Given the description of an element on the screen output the (x, y) to click on. 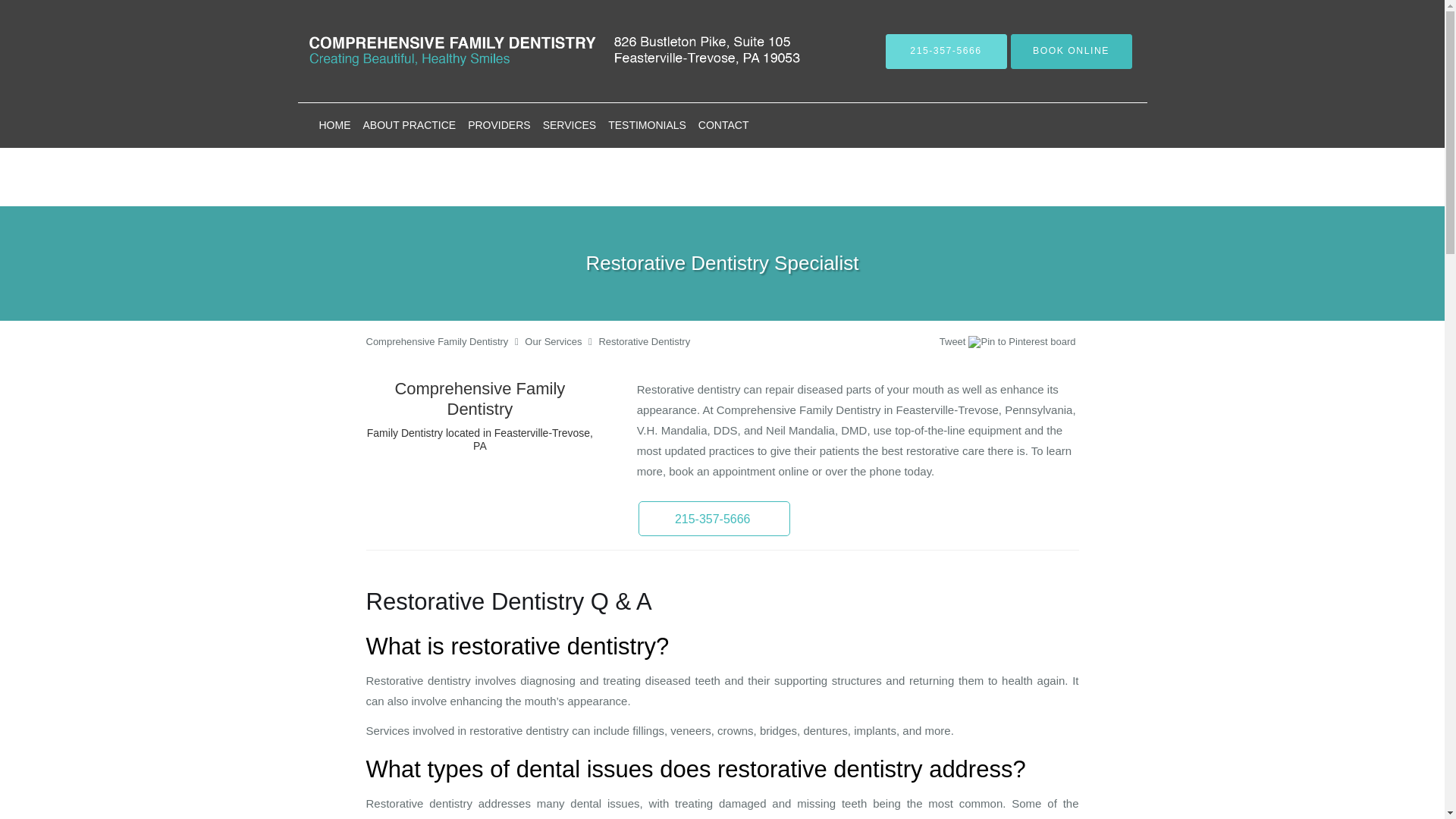
PROVIDERS (498, 125)
ABOUT PRACTICE (408, 125)
Facebook social button (880, 343)
SERVICES (569, 125)
Our Services (552, 341)
215-357-5666 (946, 50)
CONTACT (724, 125)
Tweet (952, 341)
Comprehensive Family Dentistry (436, 341)
BOOK ONLINE (1070, 50)
Restorative Dentistry (644, 341)
TESTIMONIALS (647, 125)
215-357-5666 (714, 518)
HOME (334, 125)
